Given the description of an element on the screen output the (x, y) to click on. 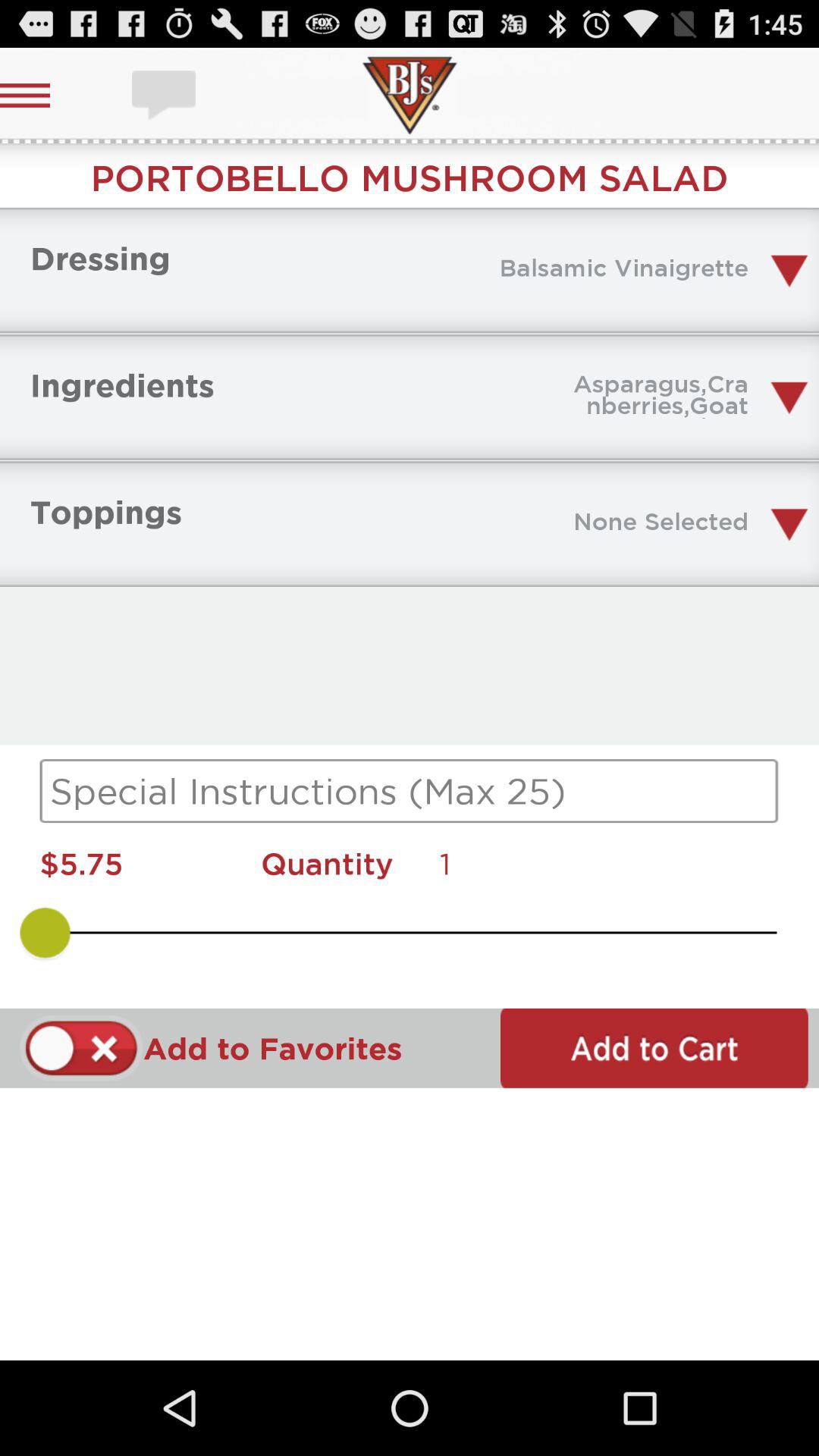
add item to cart (654, 1048)
